Given the description of an element on the screen output the (x, y) to click on. 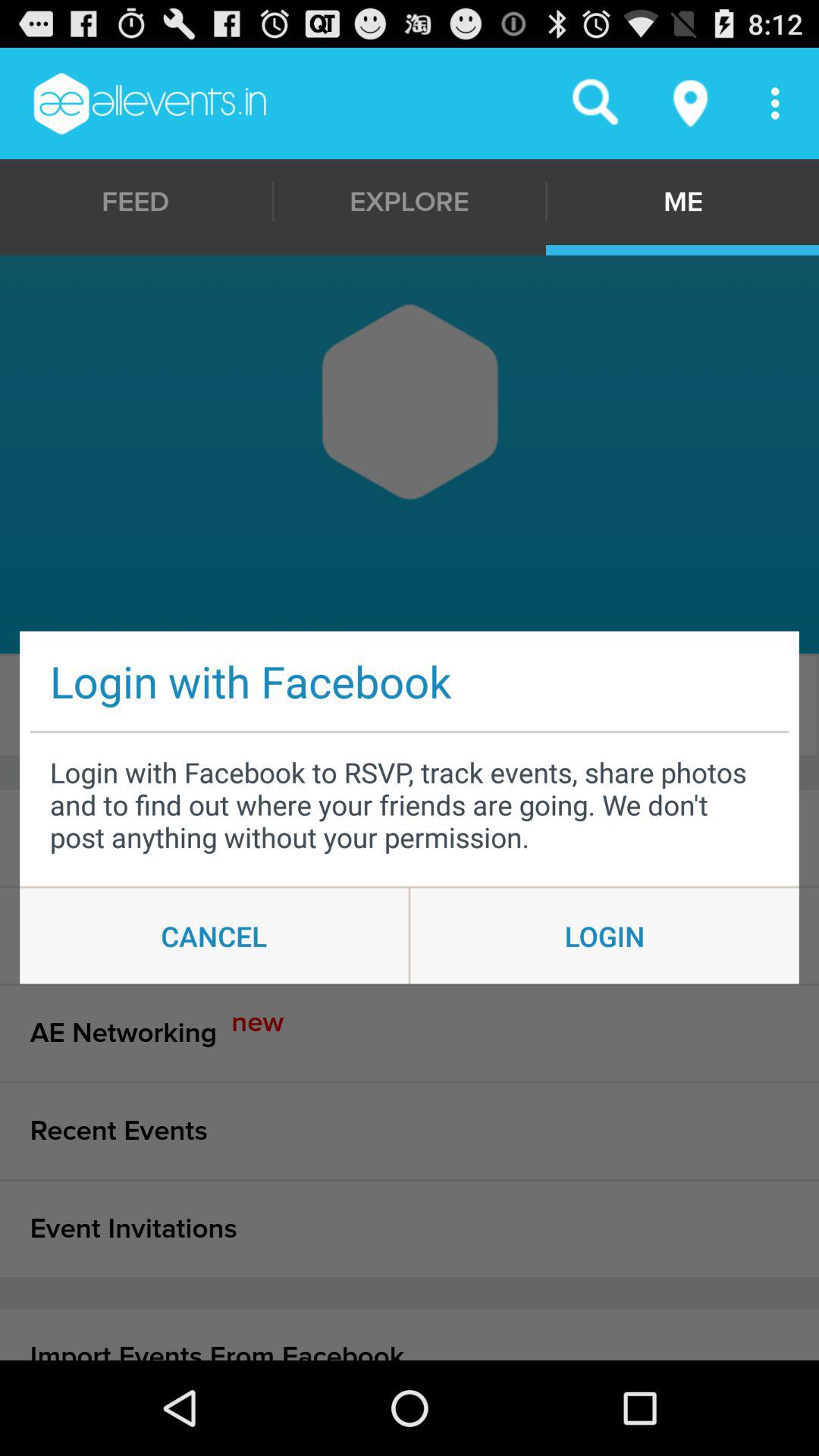
select followers item (406, 705)
